Given the description of an element on the screen output the (x, y) to click on. 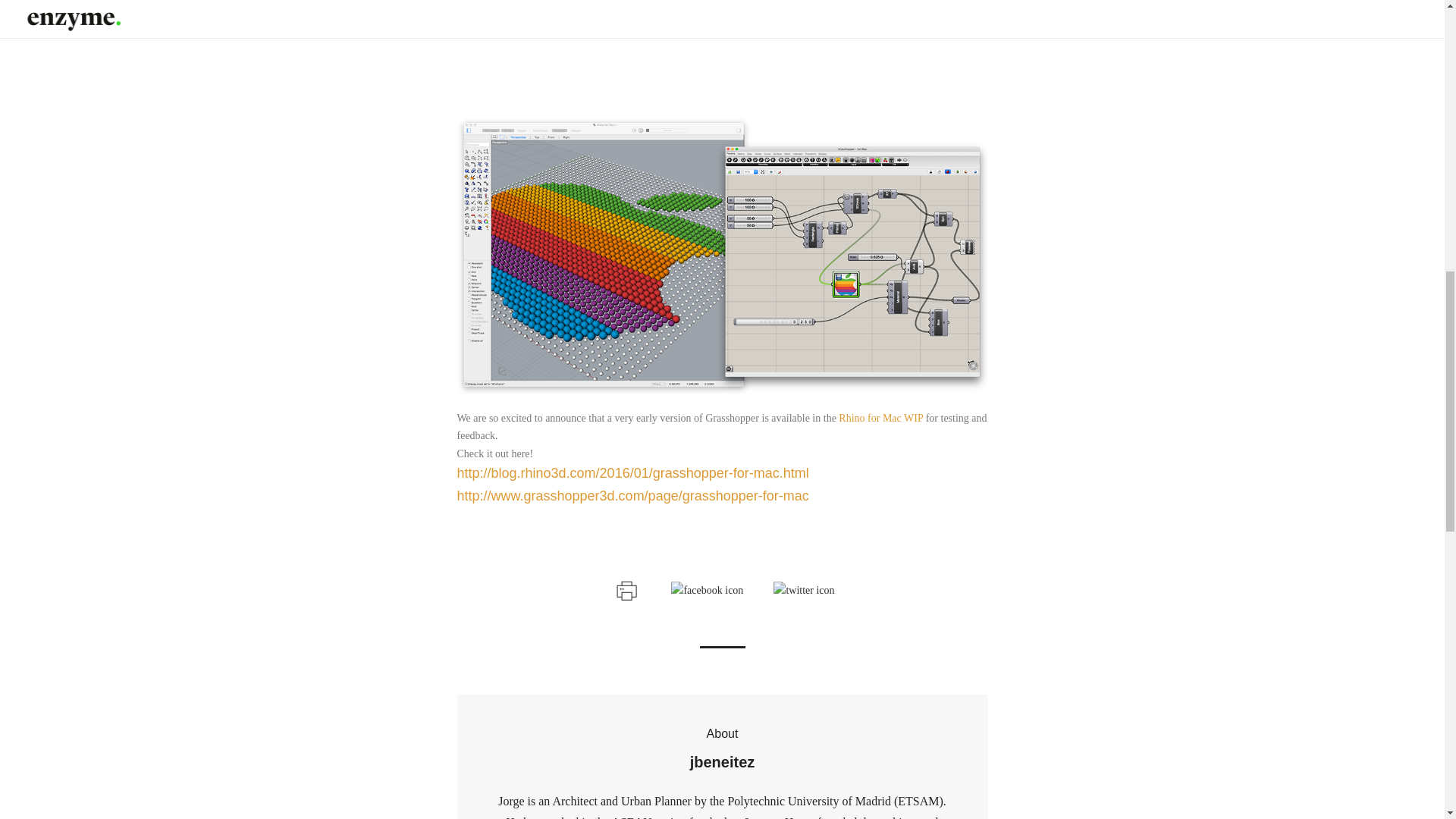
Print (625, 588)
Rhino for Mac WIP (880, 418)
jbeneitez (722, 762)
